Given the description of an element on the screen output the (x, y) to click on. 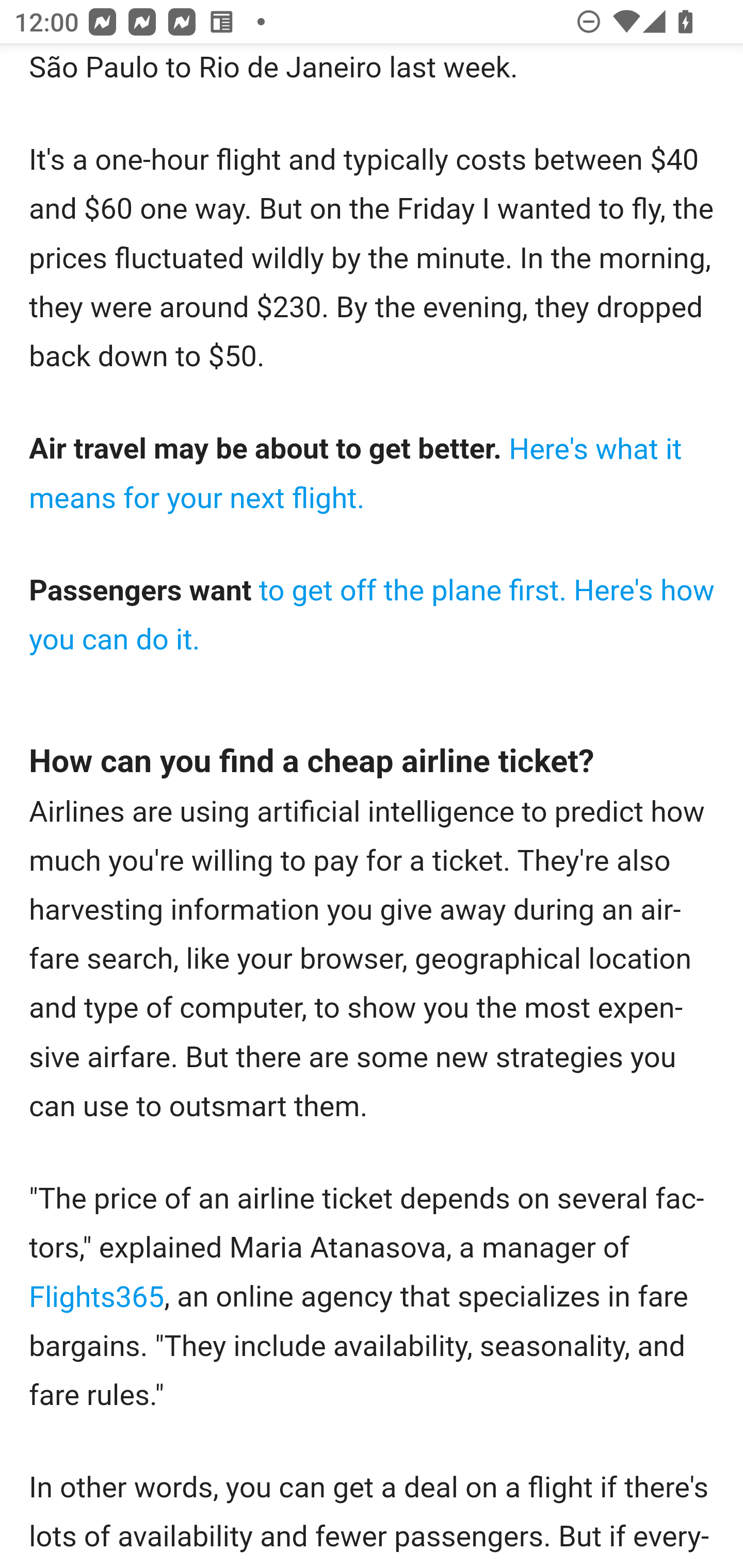
Here's what it means for your next flight. (355, 474)
Flights365 (97, 1297)
